Given the description of an element on the screen output the (x, y) to click on. 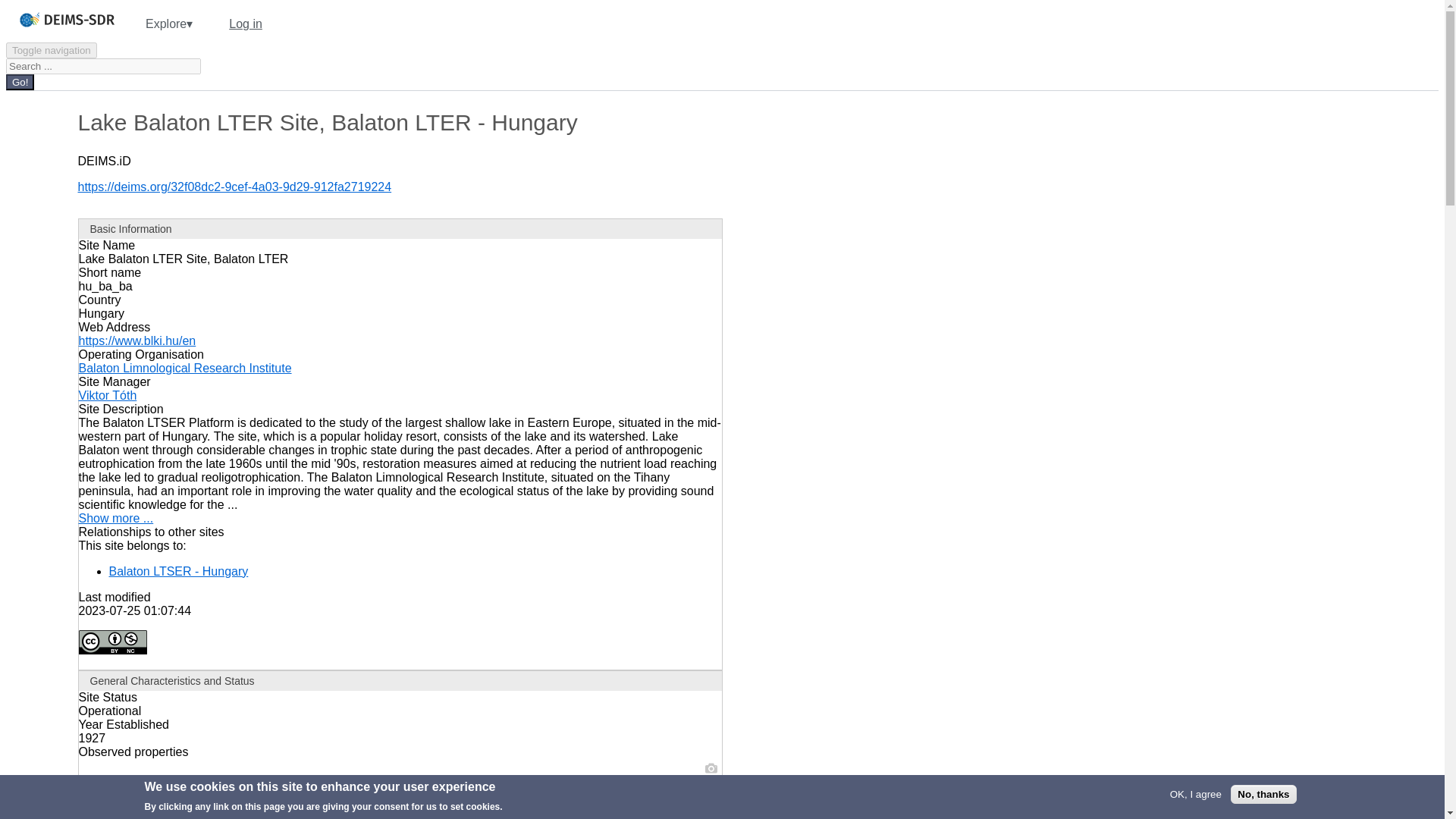
This record is licenced under CC BY-NC 4.0 (112, 641)
Home (84, 30)
Show more ... (116, 517)
Go! (19, 82)
Balaton Limnological Research Institute (185, 367)
Log in (246, 23)
Toggle navigation (51, 50)
Balaton LTSER - Hungary (178, 571)
